Given the description of an element on the screen output the (x, y) to click on. 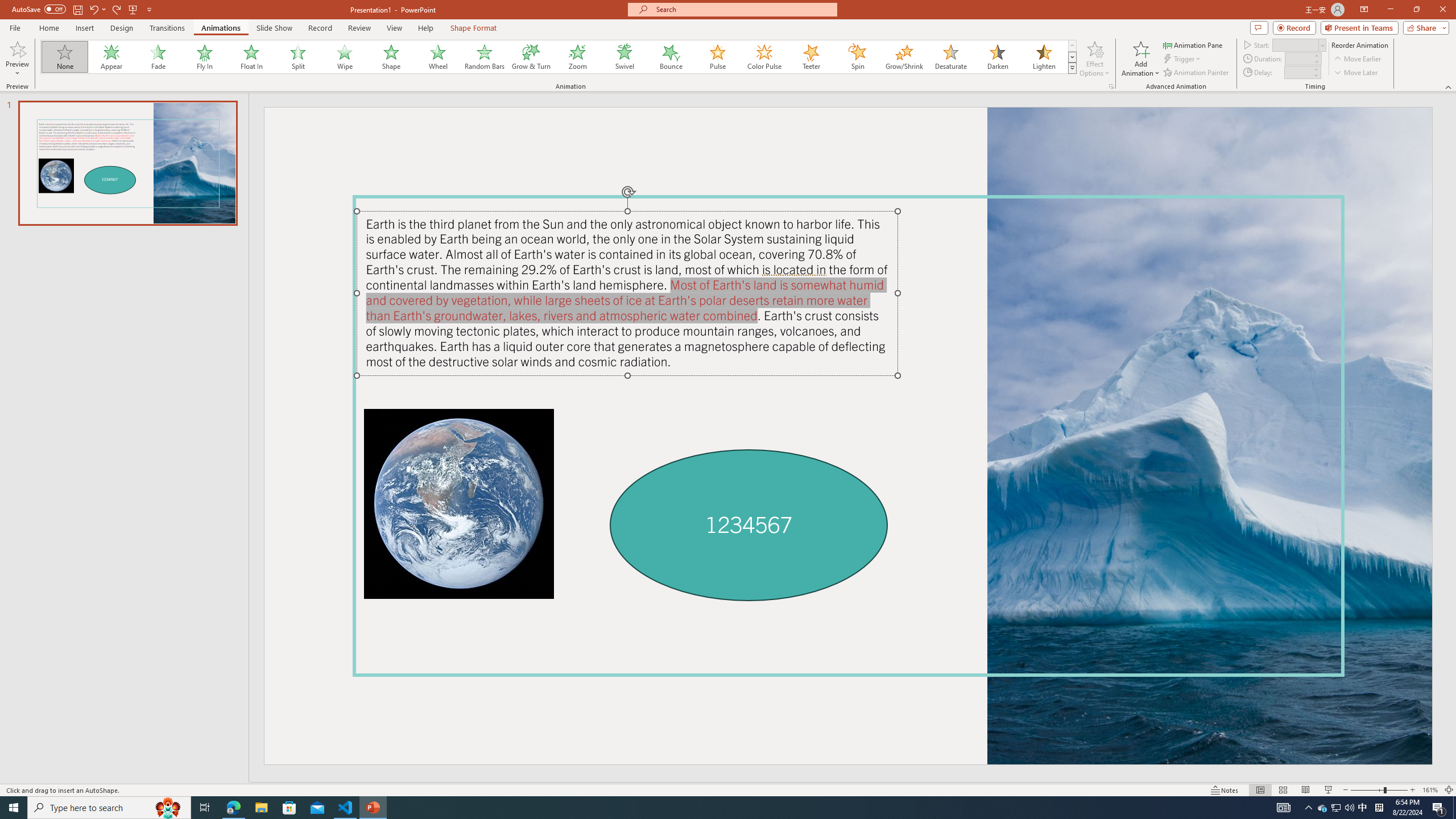
Row Down (1071, 56)
Grow & Turn (531, 56)
Transitions (167, 28)
Animation Duration (1298, 58)
More Options... (1110, 85)
Lighten (1043, 56)
Start (1299, 44)
Move Earlier (1357, 58)
Effect Options (1094, 58)
Zoom 161% (1430, 790)
Move Later (1355, 72)
